Given the description of an element on the screen output the (x, y) to click on. 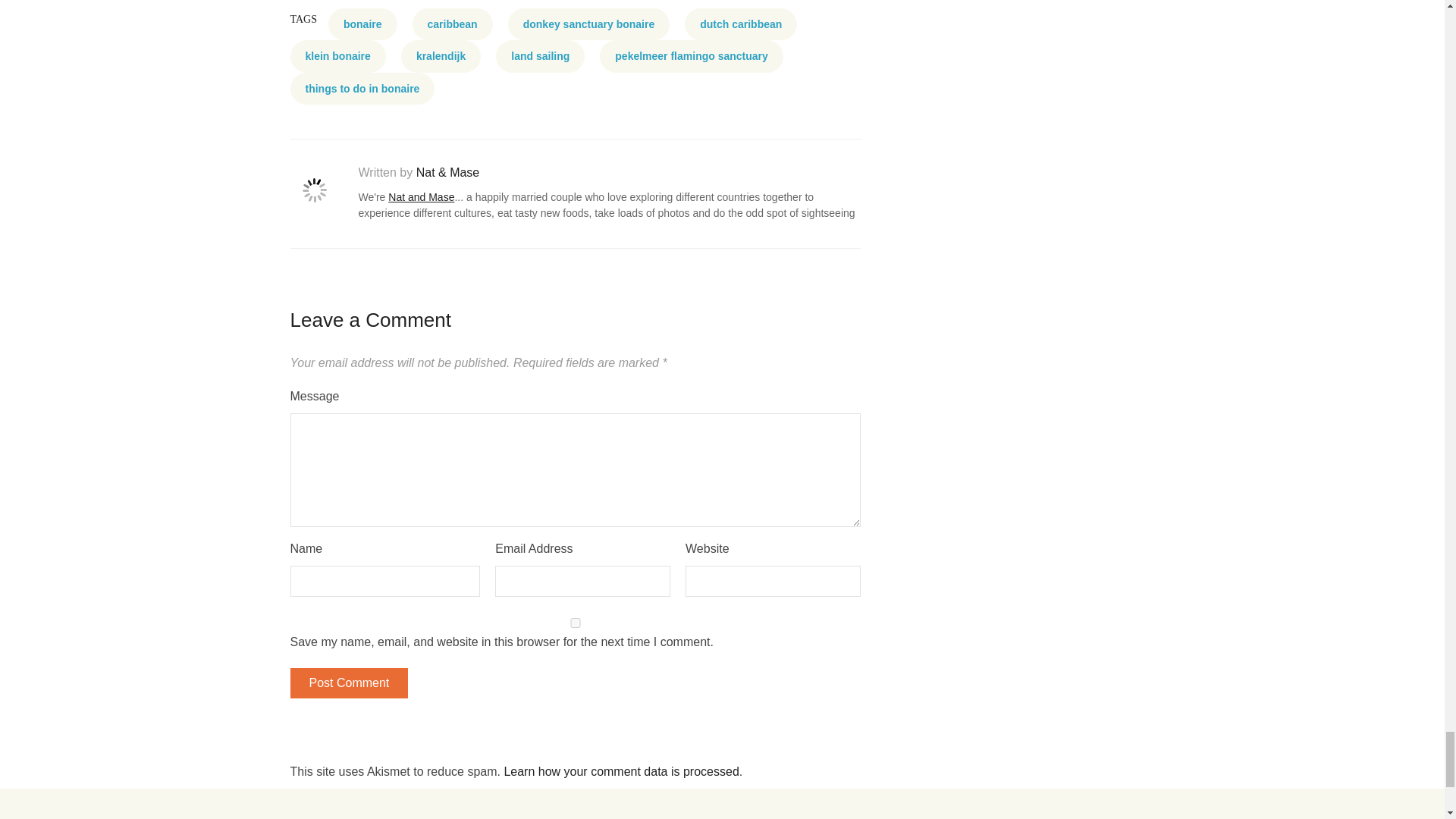
Post Comment (348, 683)
yes (574, 623)
